Given the description of an element on the screen output the (x, y) to click on. 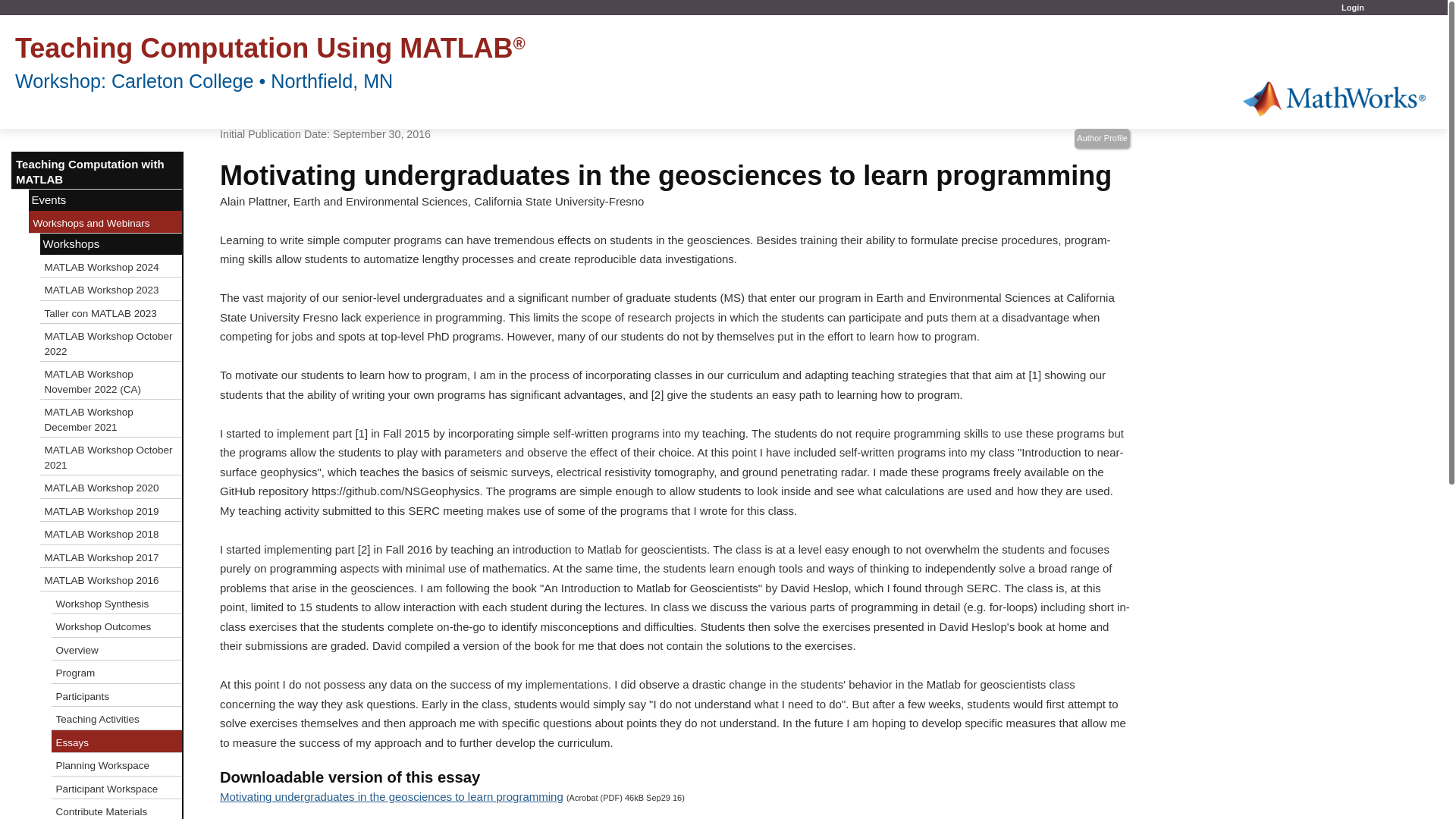
Author Profile (1101, 138)
Teaching Computation with MATLAB (96, 170)
MATLAB Workshop December 2021 (110, 418)
MATLAB Workshop October 2022 (110, 342)
Participant Workspace (116, 788)
Contribute Materials (116, 809)
Workshops and Webinars (106, 222)
MATLAB Workshop 2020 (110, 486)
Participants (116, 695)
